Given the description of an element on the screen output the (x, y) to click on. 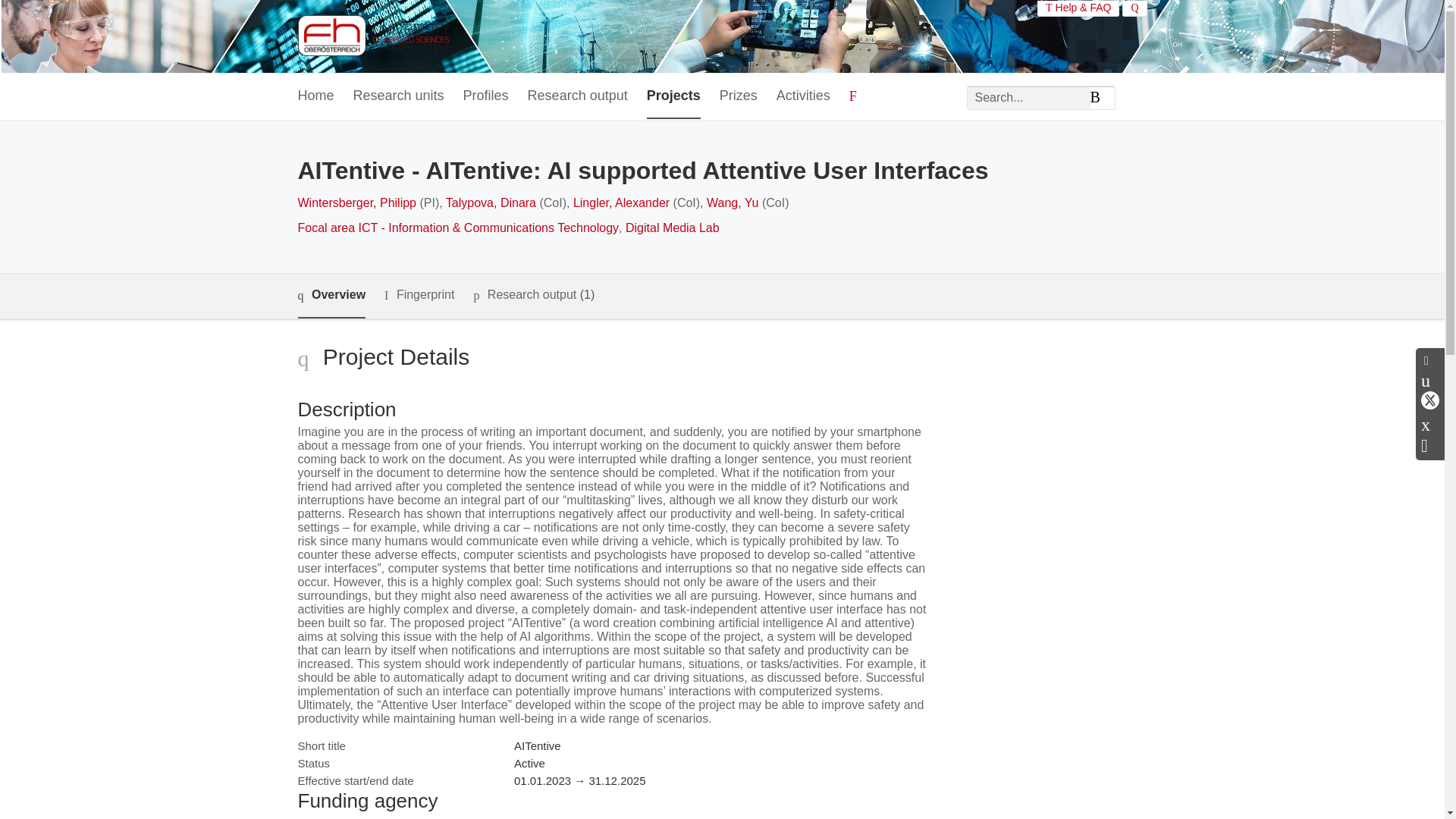
University of Applied Sciences Upper Austria Home (372, 36)
Overview (331, 295)
Research units (398, 96)
Wang, Yu (732, 202)
Fingerprint (419, 294)
Profiles (485, 96)
Activities (802, 96)
Projects (673, 96)
Research output (577, 96)
Lingler, Alexander (621, 202)
Wintersberger, Philipp (356, 202)
Digital Media Lab (672, 227)
Talypova, Dinara (490, 202)
